Given the description of an element on the screen output the (x, y) to click on. 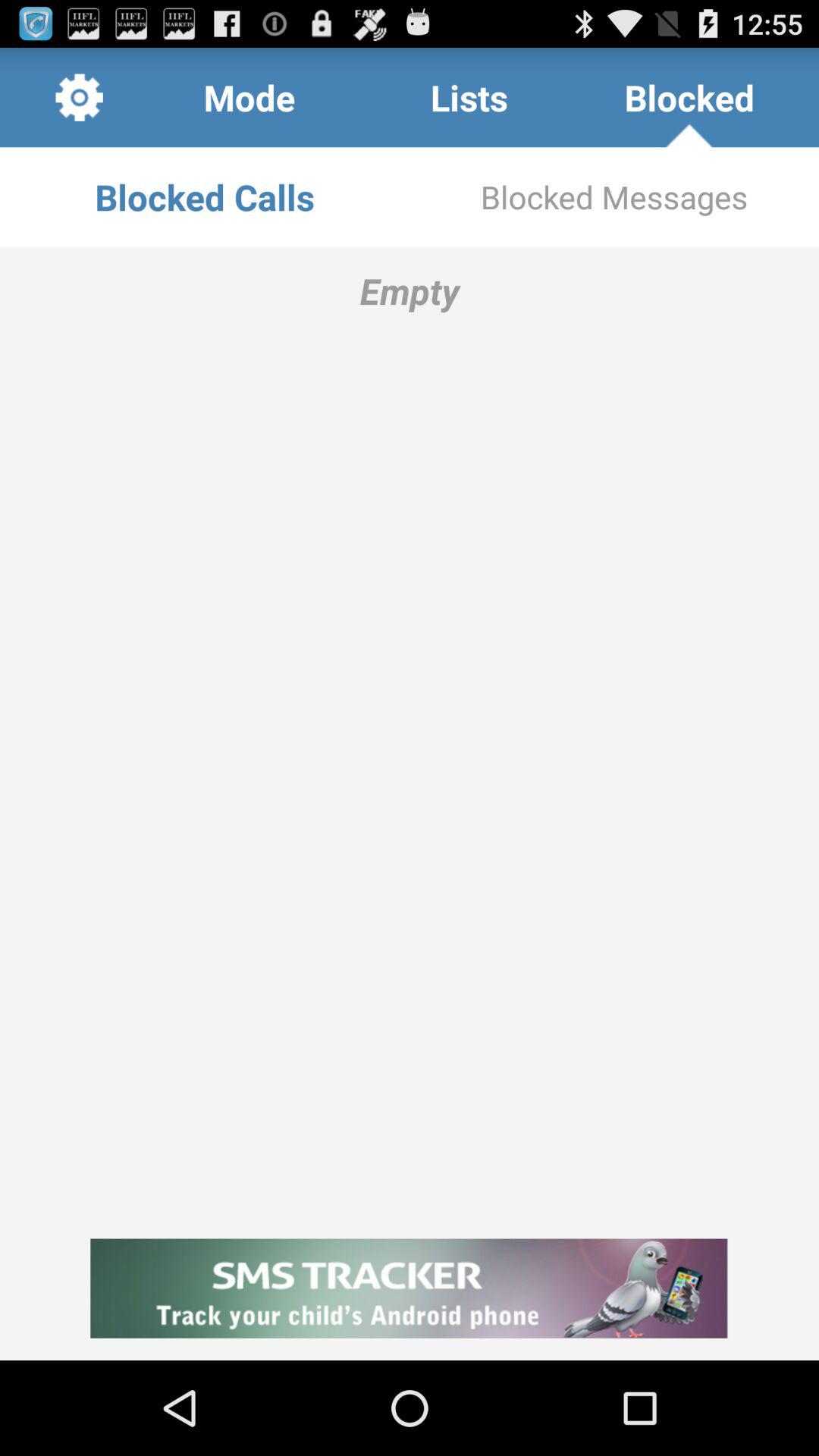
select item next to mode item (79, 97)
